Given the description of an element on the screen output the (x, y) to click on. 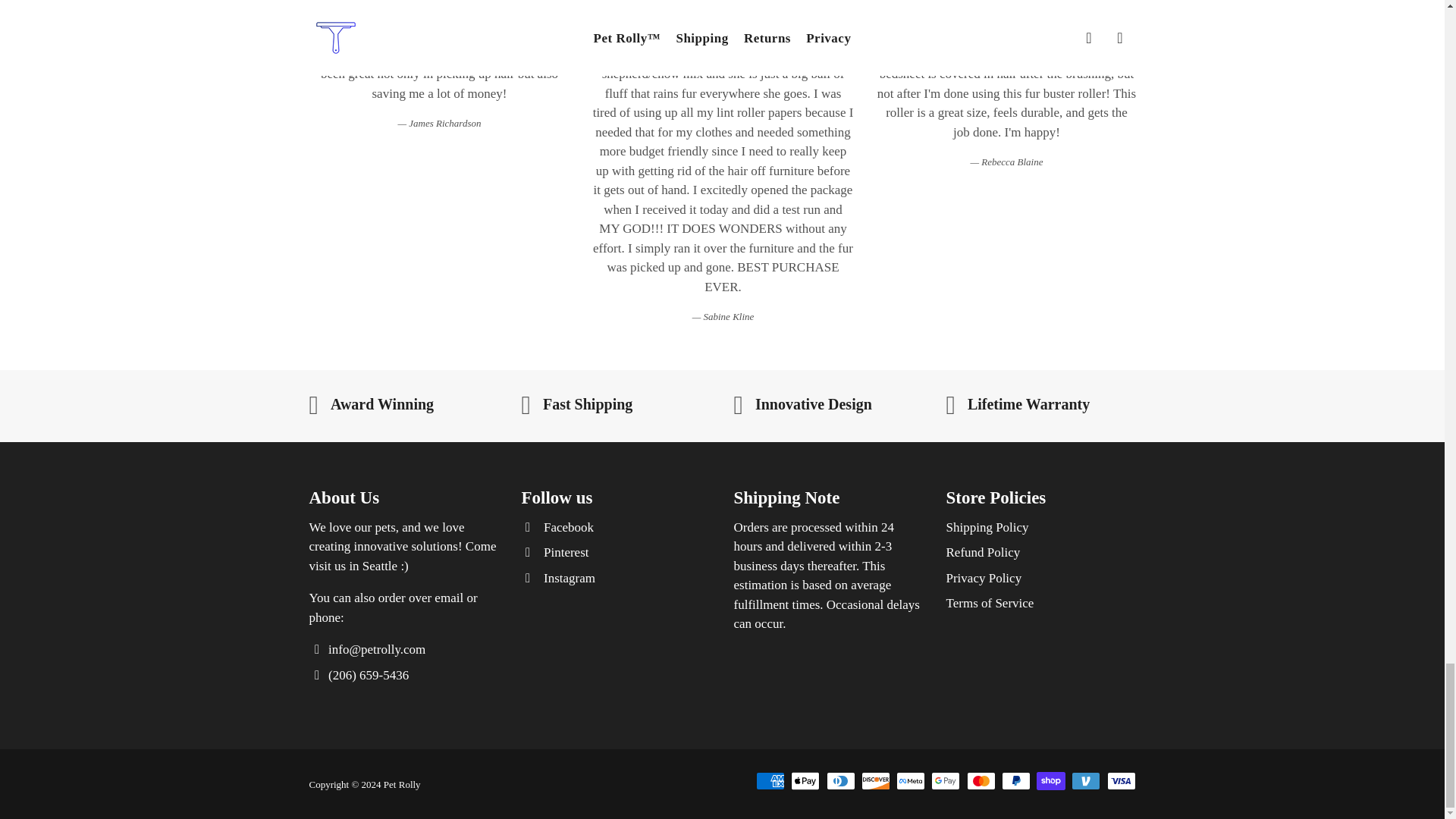
Google Pay (945, 781)
PayPal (1015, 781)
Apple Pay (804, 781)
Pet Rolly on Facebook (557, 527)
American Express (769, 781)
Discover (875, 781)
Meta Pay (910, 781)
Diners Club (841, 781)
Mastercard (980, 781)
Venmo (1085, 781)
